Given the description of an element on the screen output the (x, y) to click on. 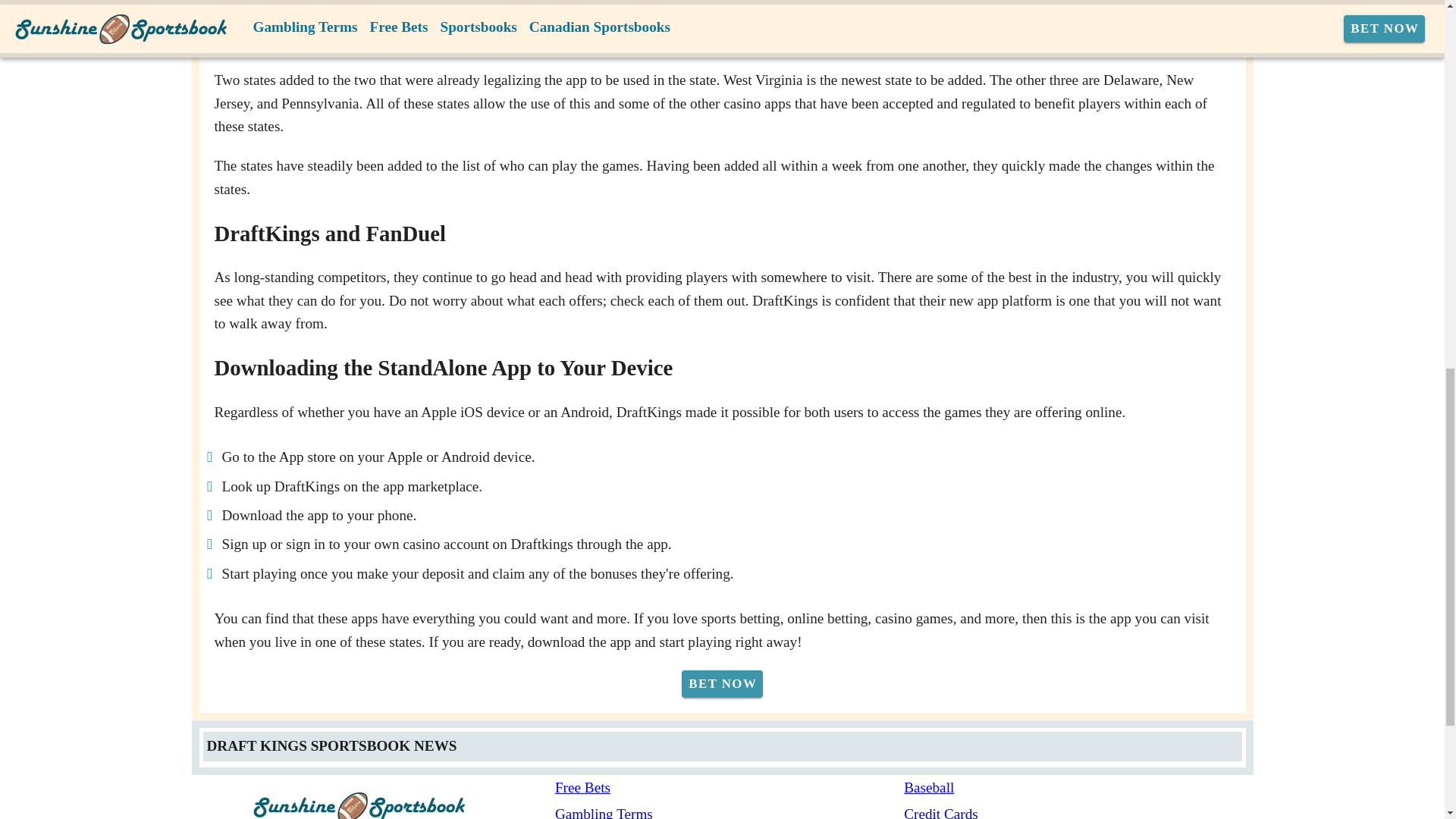
BET NOW (721, 683)
Free Bets (729, 788)
Gambling Terms (729, 811)
Credit Cards (1078, 811)
Baseball (1078, 788)
